Given the description of an element on the screen output the (x, y) to click on. 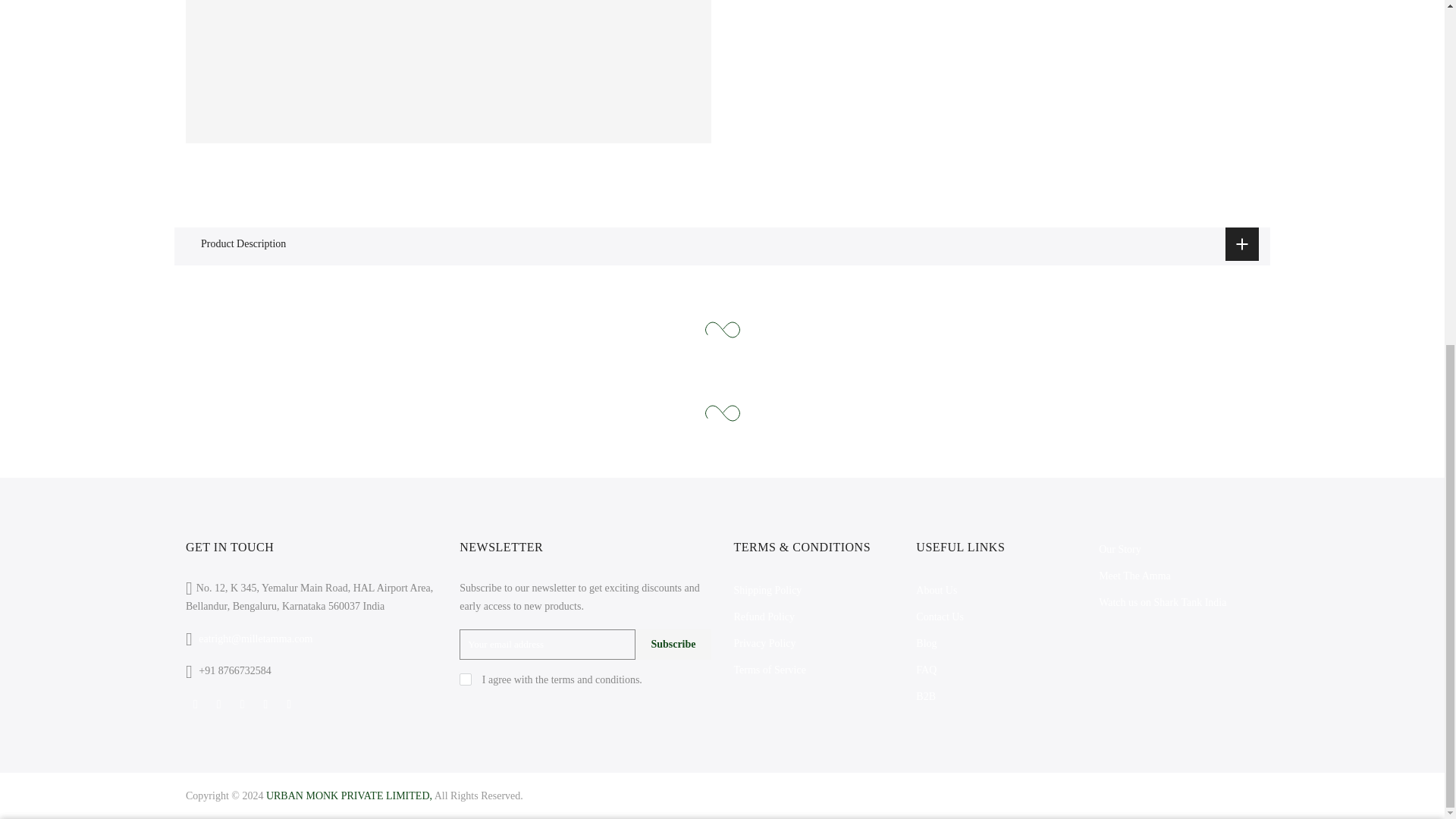
Refund Policy (763, 616)
Subscribe (672, 644)
Shipping Policy (767, 590)
1 (1094, 264)
Product Description (722, 244)
